Given the description of an element on the screen output the (x, y) to click on. 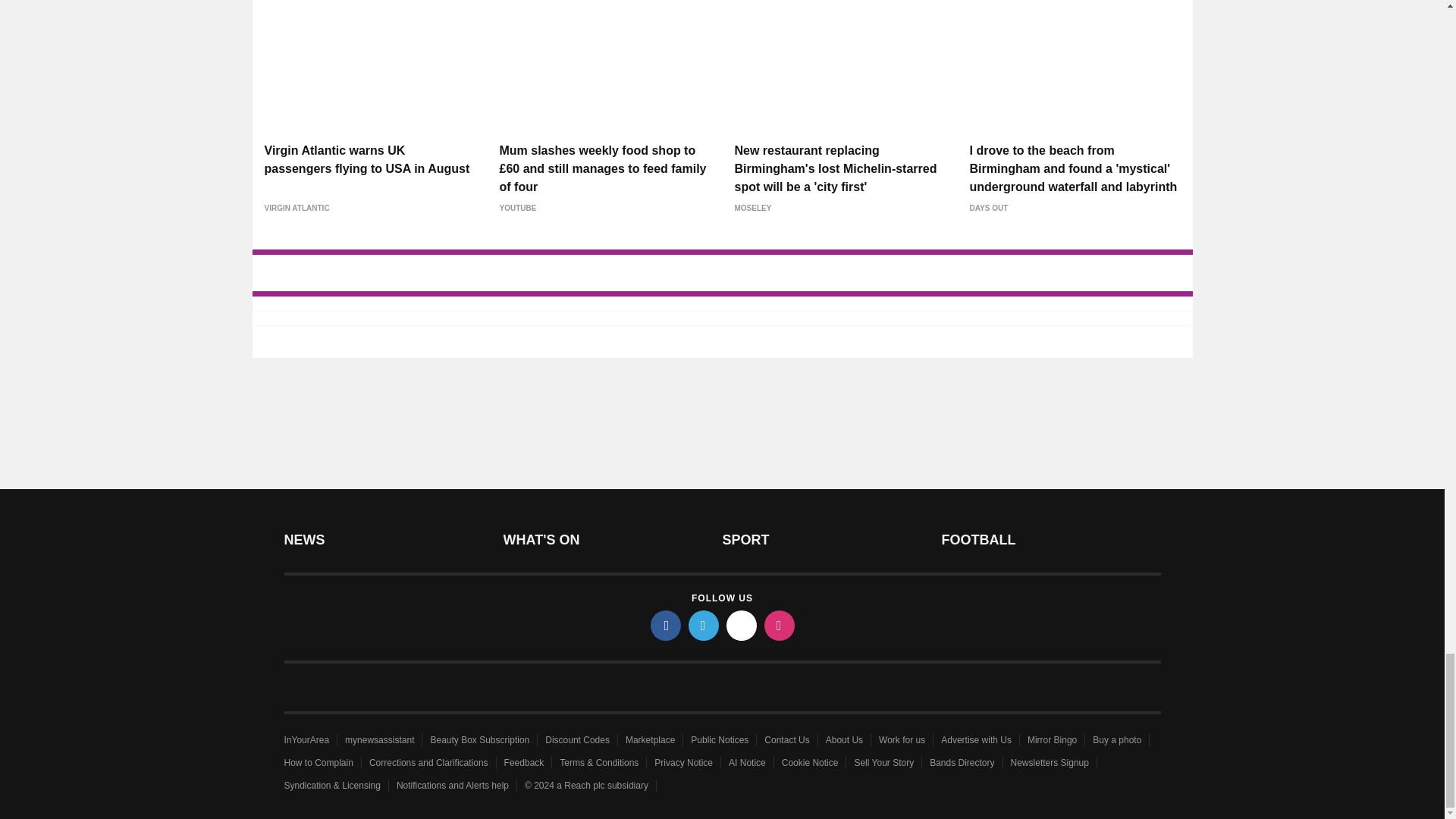
facebook (665, 625)
twitter (703, 625)
instagram (779, 625)
tiktok (741, 625)
